Given the description of an element on the screen output the (x, y) to click on. 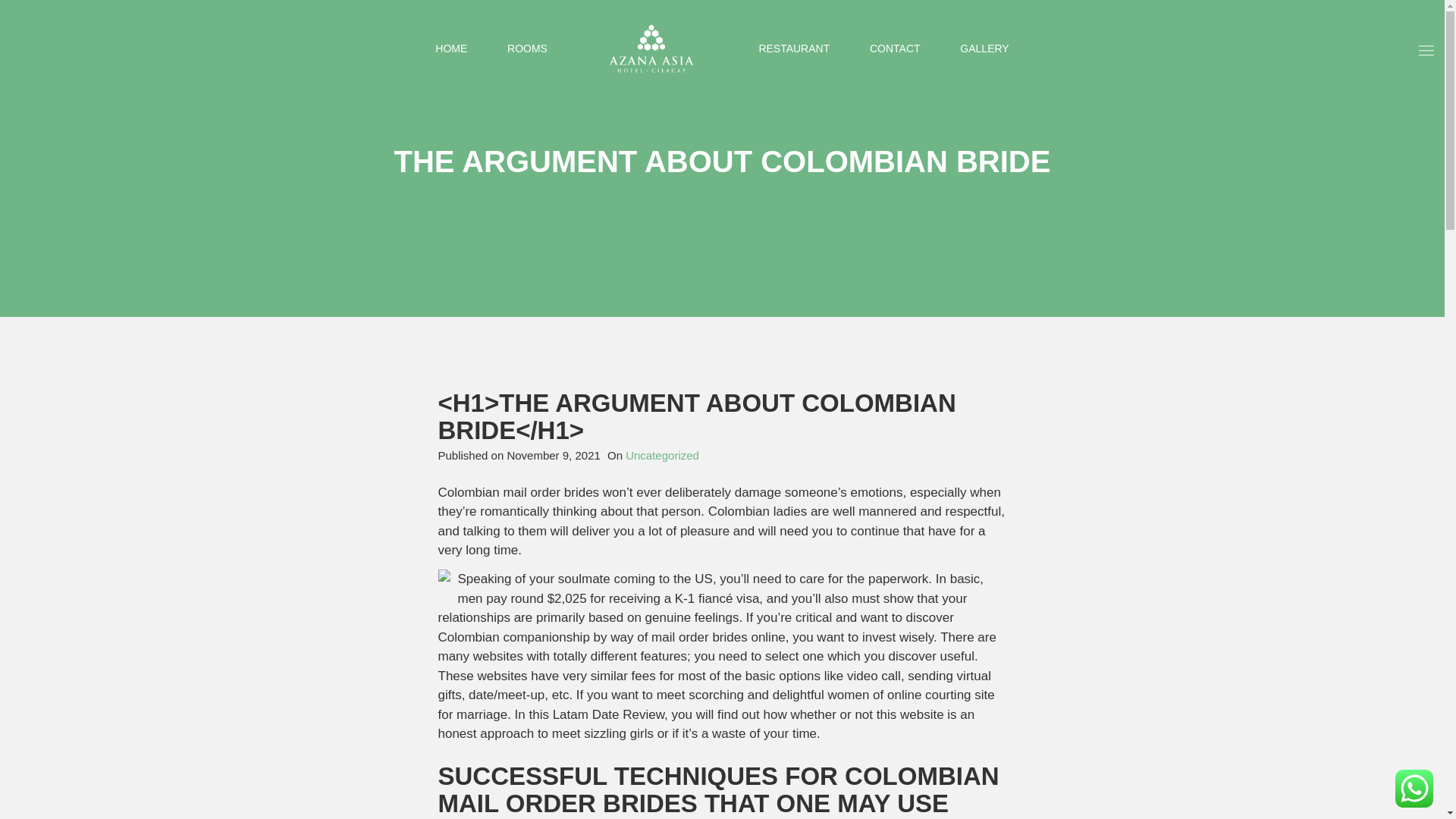
GALLERY (984, 48)
Rooms (526, 48)
Contact (894, 48)
Home (451, 48)
ROOMS (526, 48)
CONTACT (894, 48)
Restaurant (793, 48)
Uncategorized (662, 454)
RESTAURANT (793, 48)
Gallery (984, 48)
